Given the description of an element on the screen output the (x, y) to click on. 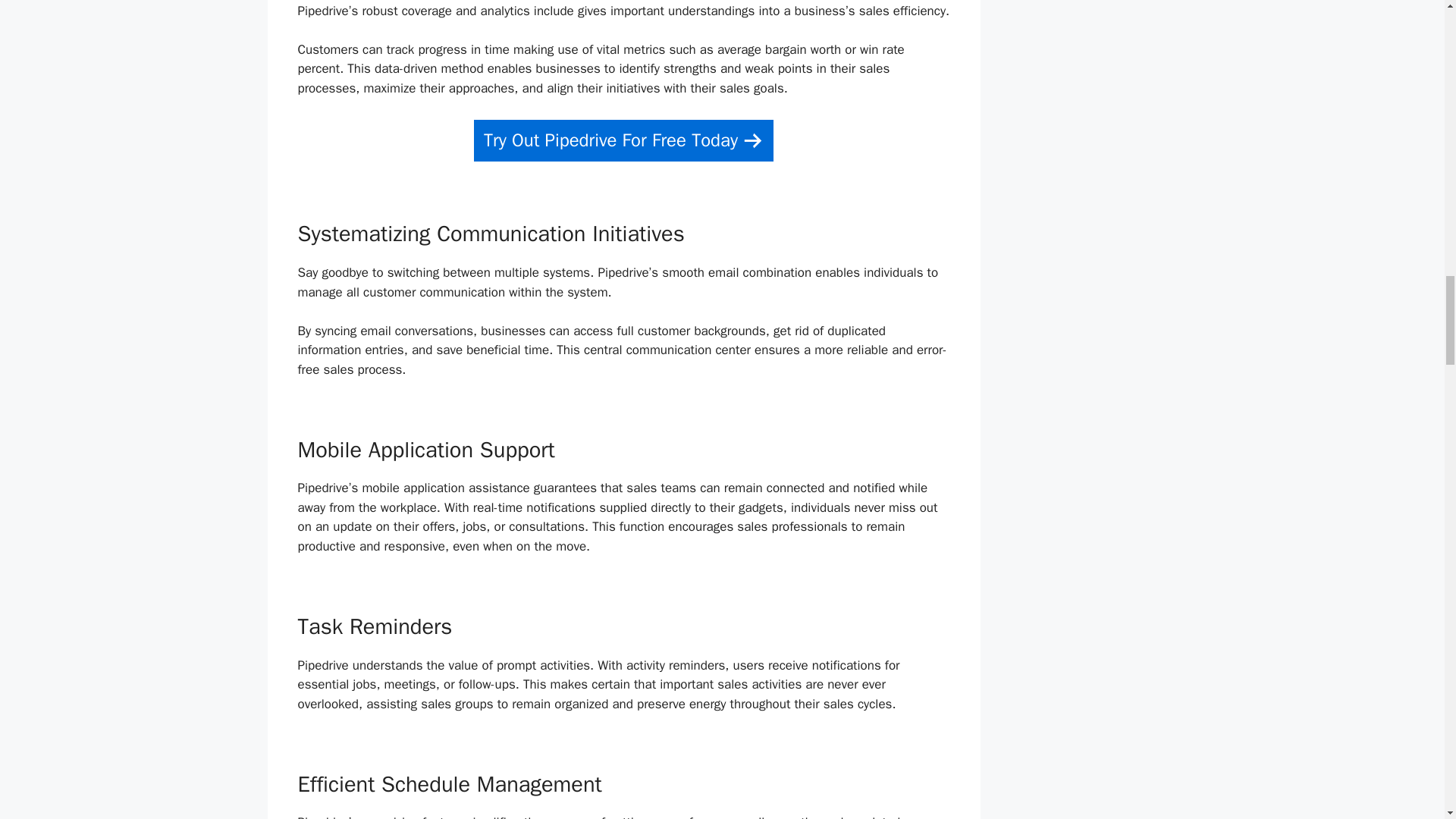
Try Out Pipedrive For Free Today (623, 140)
